Given the description of an element on the screen output the (x, y) to click on. 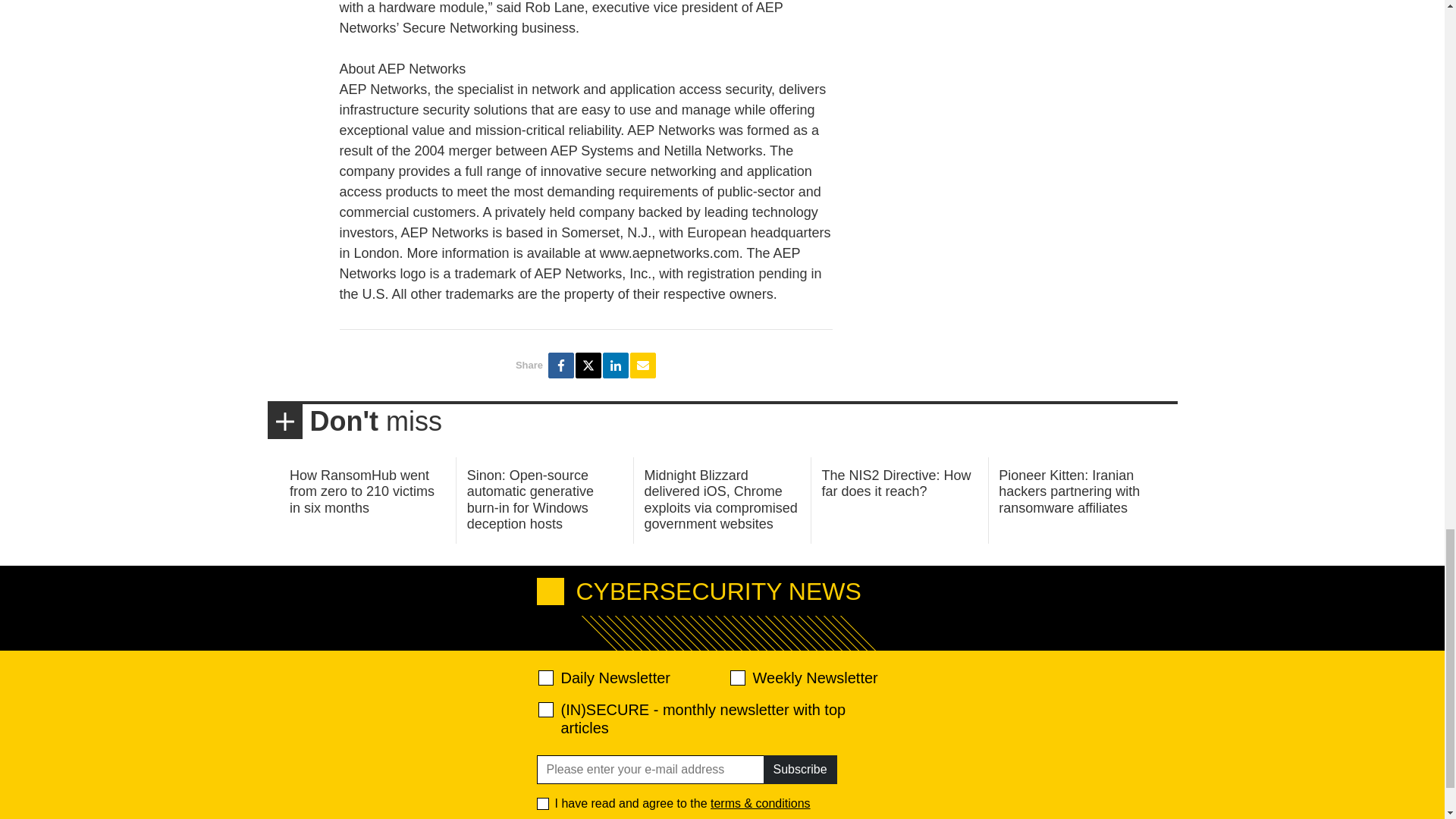
d2d471aafa (736, 677)
520ac2f639 (545, 677)
How RansomHub went from zero to 210 victims in six months (361, 491)
1 (542, 803)
Subscribe (798, 769)
28abe5d9ef (545, 709)
